Given the description of an element on the screen output the (x, y) to click on. 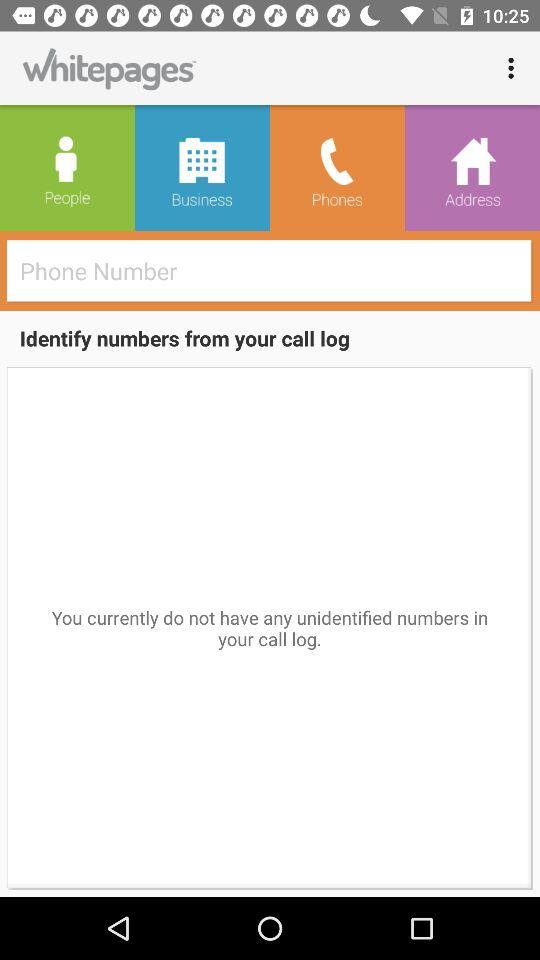
press the item above the identify numbers from icon (276, 270)
